Given the description of an element on the screen output the (x, y) to click on. 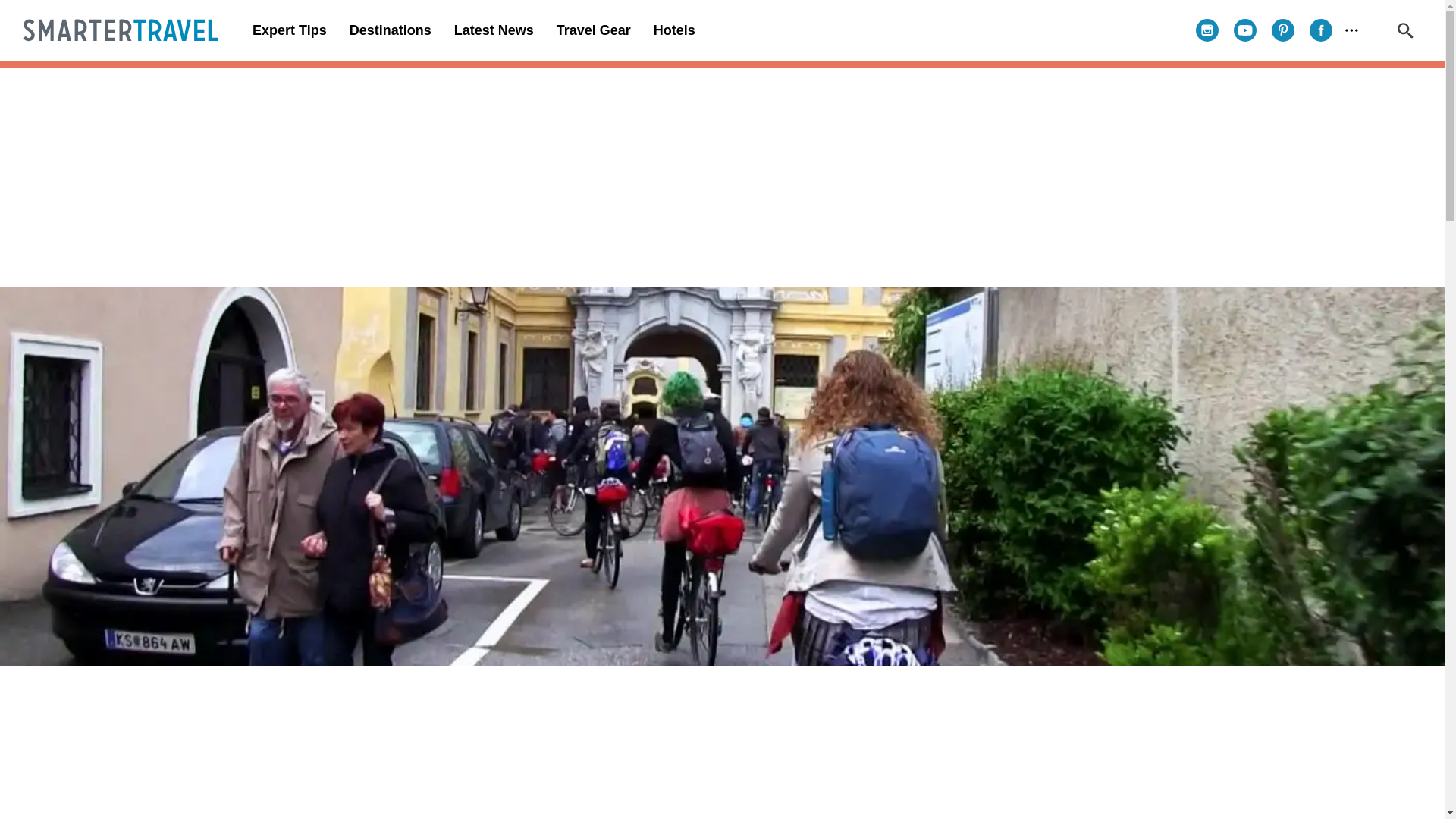
Expert Tips (289, 30)
Latest News (493, 30)
Destinations (389, 30)
Travel Gear (593, 30)
Hotels (674, 30)
